Given the description of an element on the screen output the (x, y) to click on. 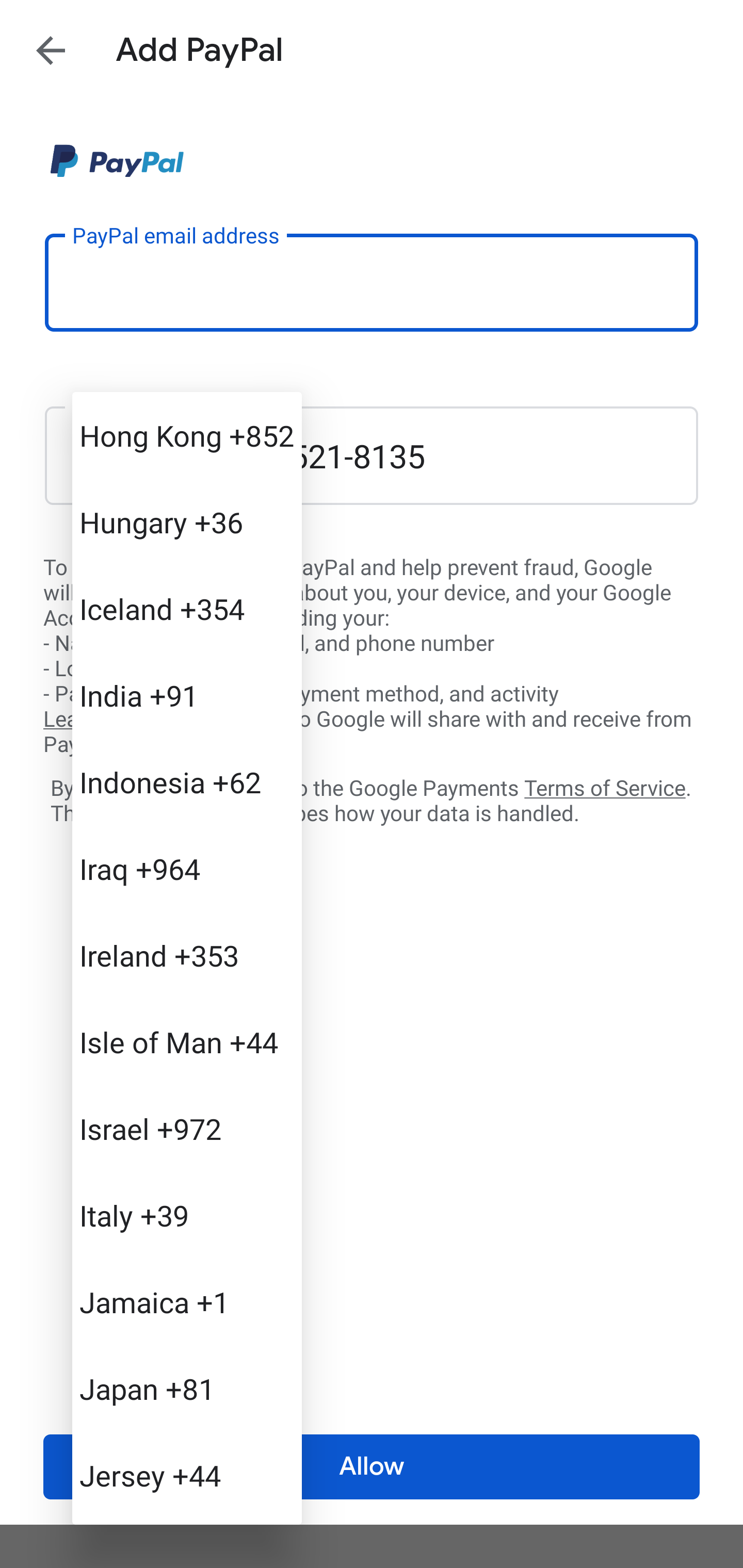
Hong Kong +852 (186, 435)
Hungary +36 (186, 522)
Iceland +354 (186, 609)
India +91 (186, 695)
Indonesia +62 (186, 781)
Iraq +964 (186, 868)
Ireland +353 (186, 955)
Isle of Man +44 (186, 1041)
Israel +972 (186, 1128)
Italy +39 (186, 1215)
Jamaica +1 (186, 1302)
Japan +81 (186, 1388)
Jersey +44 (186, 1474)
